Given the description of an element on the screen output the (x, y) to click on. 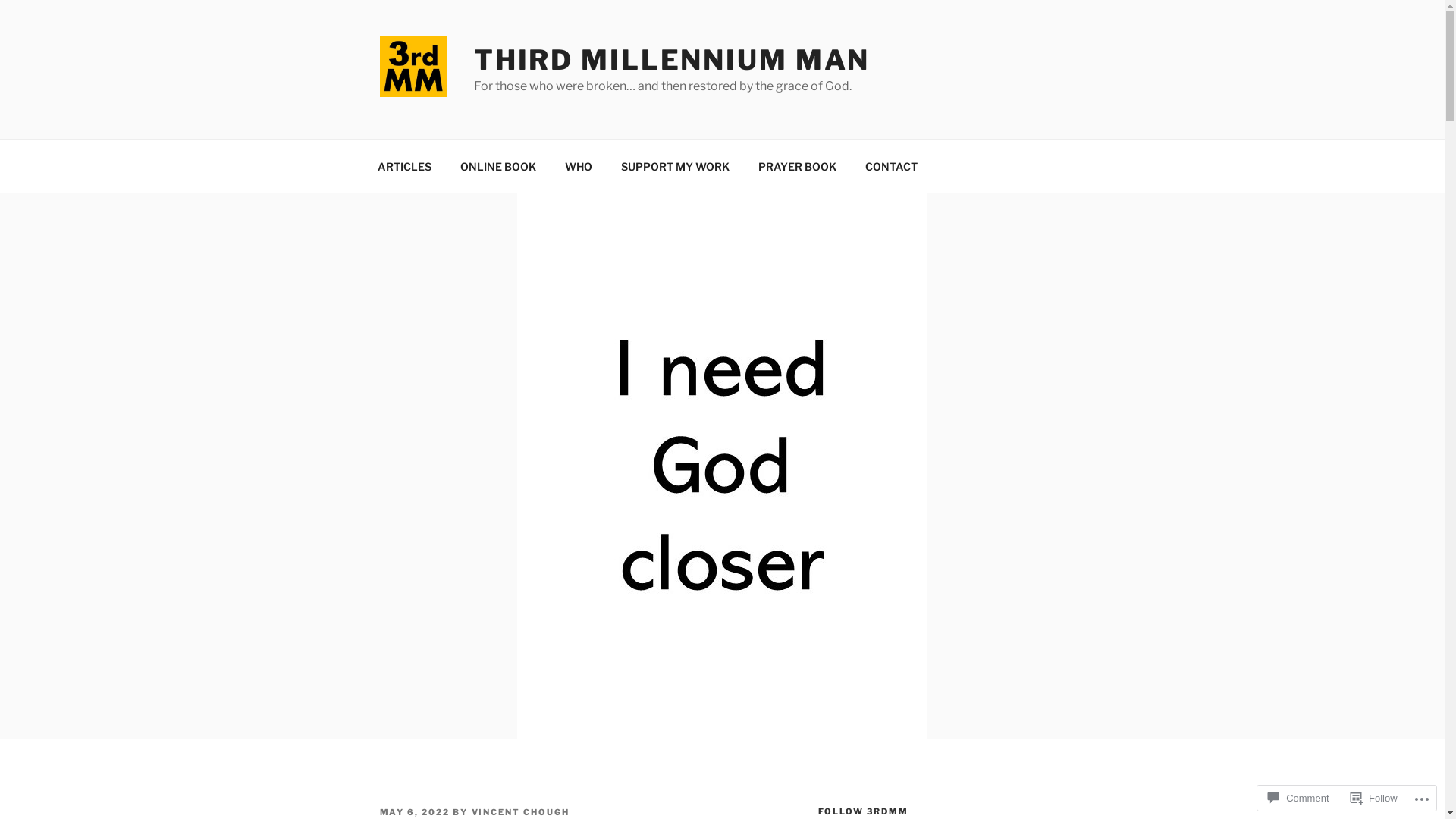
VINCENT CHOUGH Element type: text (520, 811)
CONTACT Element type: text (891, 165)
MAY 6, 2022 Element type: text (414, 811)
SUPPORT MY WORK Element type: text (675, 165)
Follow Element type: text (1373, 797)
PRAYER BOOK Element type: text (796, 165)
Comment Element type: text (1297, 797)
WHO Element type: text (578, 165)
THIRD MILLENNIUM MAN Element type: text (671, 59)
ARTICLES Element type: text (404, 165)
ONLINE BOOK Element type: text (498, 165)
